Given the description of an element on the screen output the (x, y) to click on. 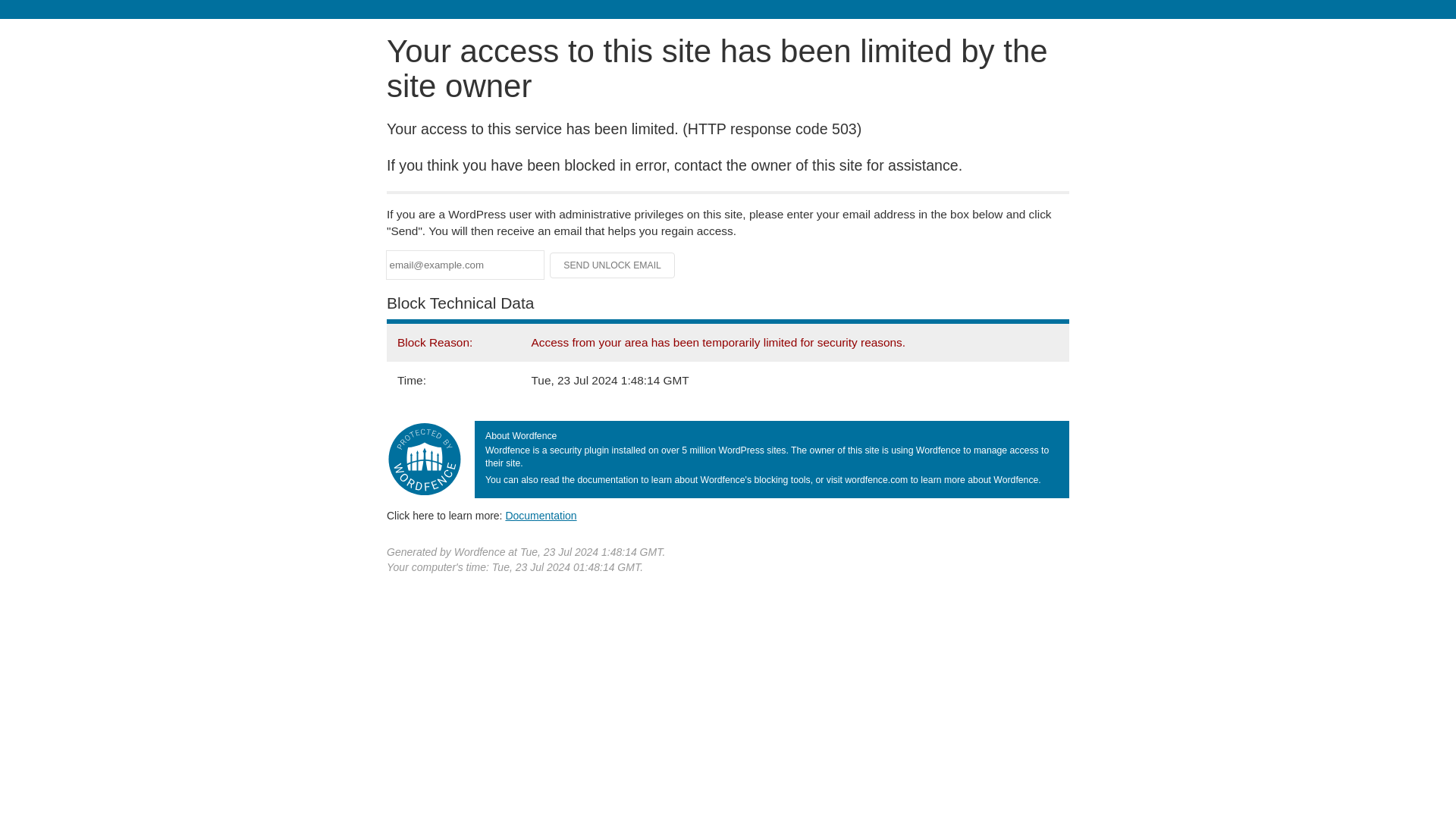
Send Unlock Email (612, 265)
Send Unlock Email (612, 265)
Documentation (540, 515)
